Given the description of an element on the screen output the (x, y) to click on. 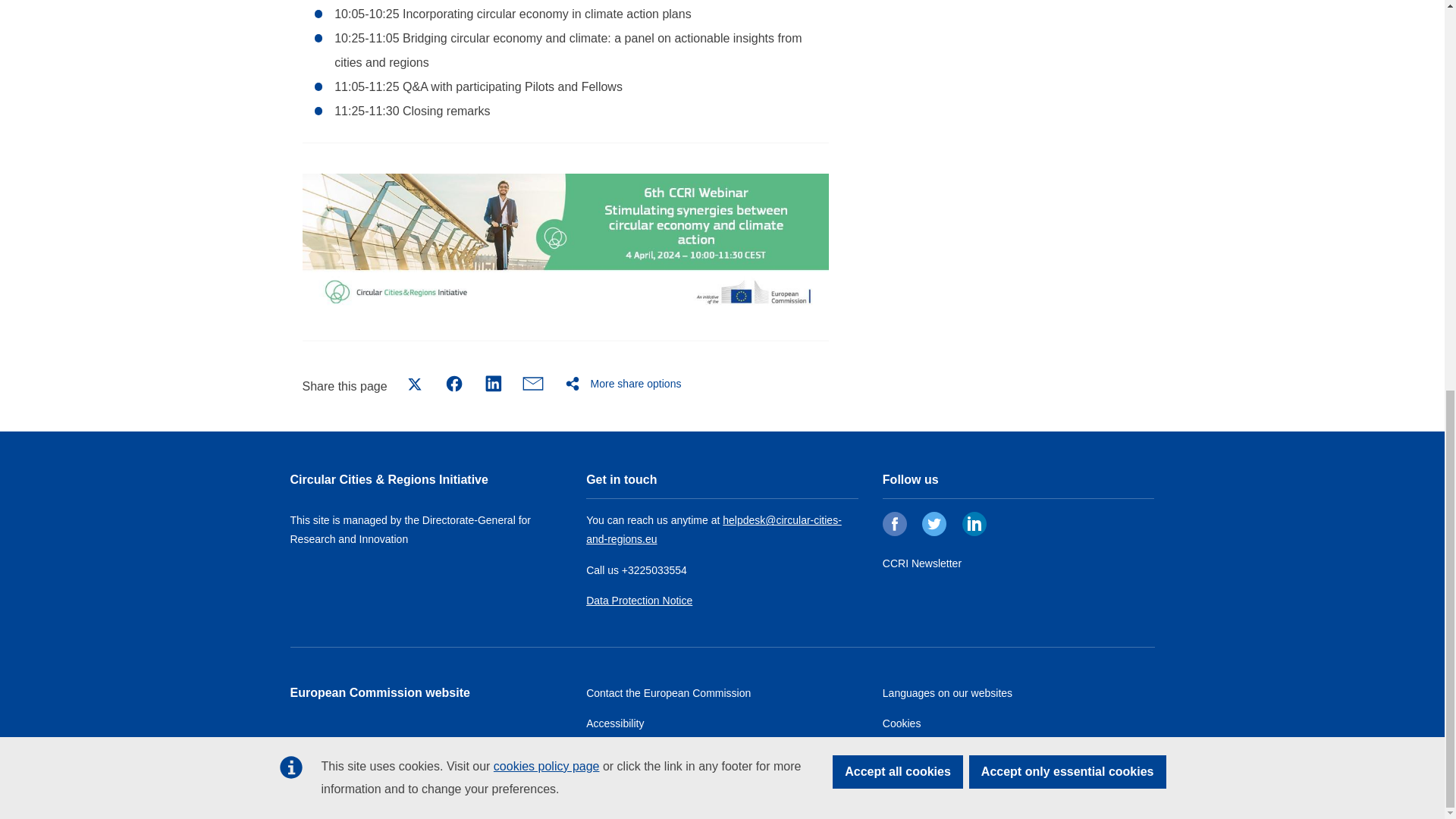
Accept all cookies (897, 28)
cookies policy page (546, 22)
Data Protection Notice (639, 600)
Accept only essential cookies (1067, 28)
